Given the description of an element on the screen output the (x, y) to click on. 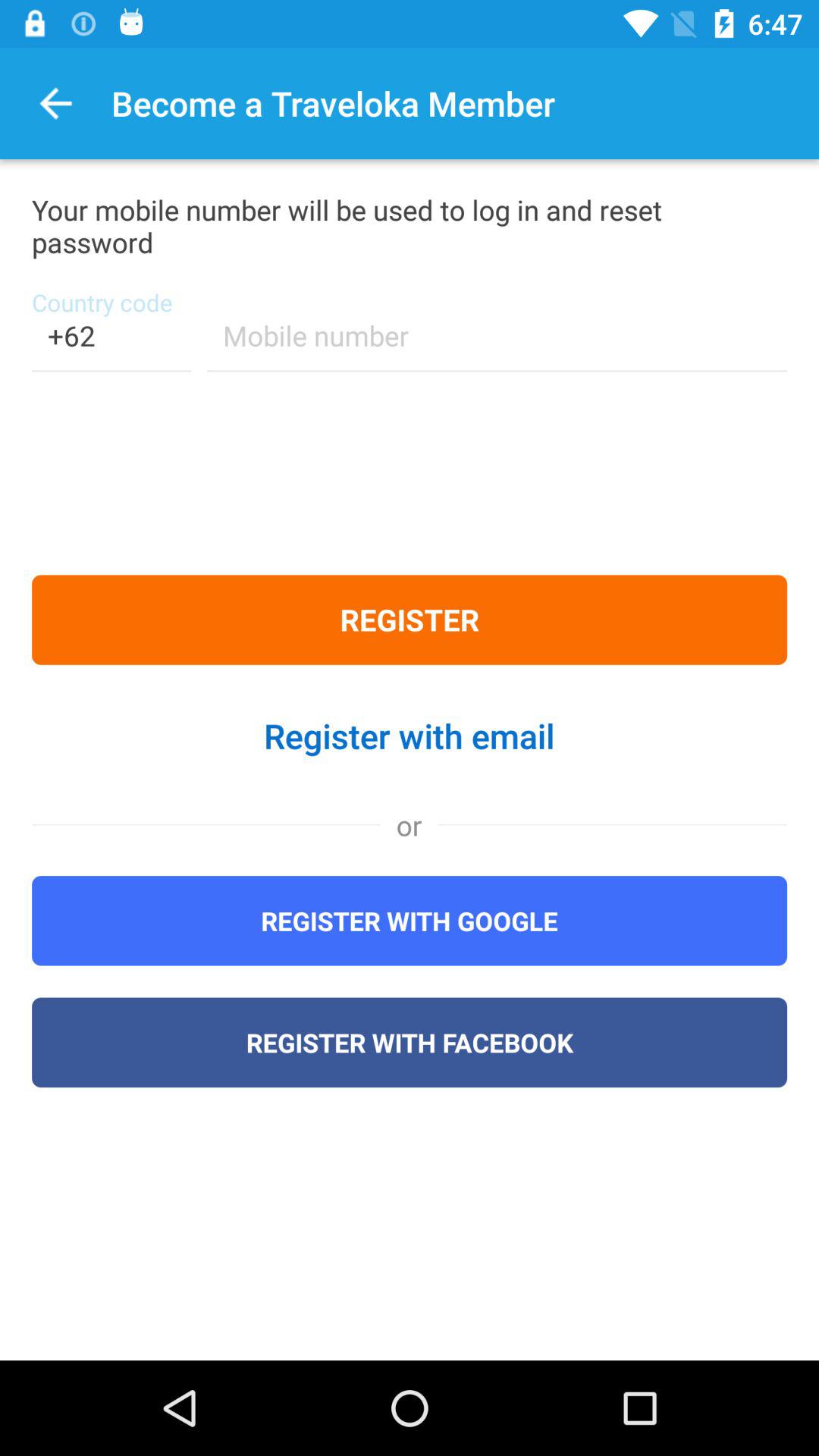
jump until +62 item (111, 345)
